Given the description of an element on the screen output the (x, y) to click on. 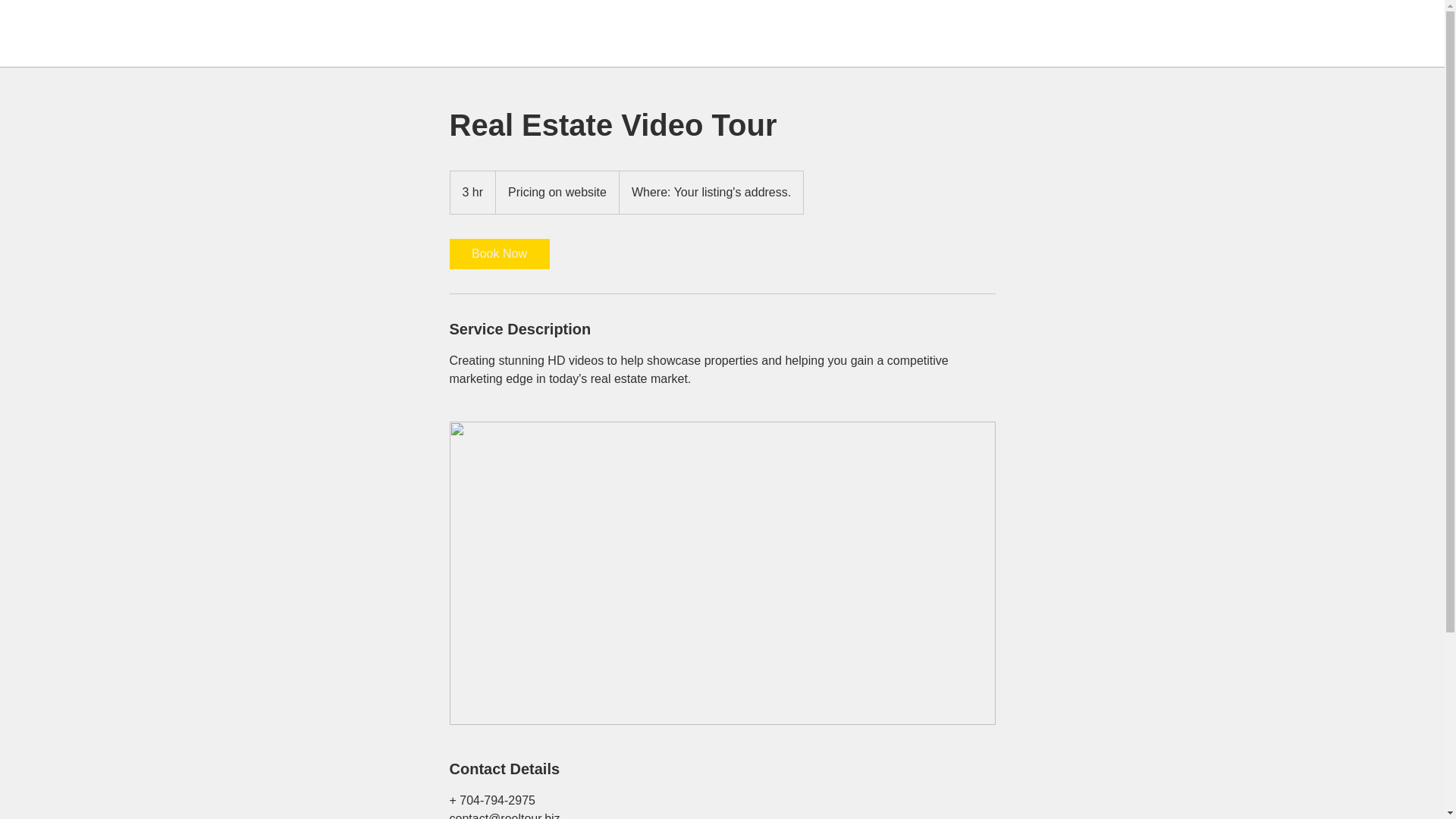
Book Now (498, 254)
